Given the description of an element on the screen output the (x, y) to click on. 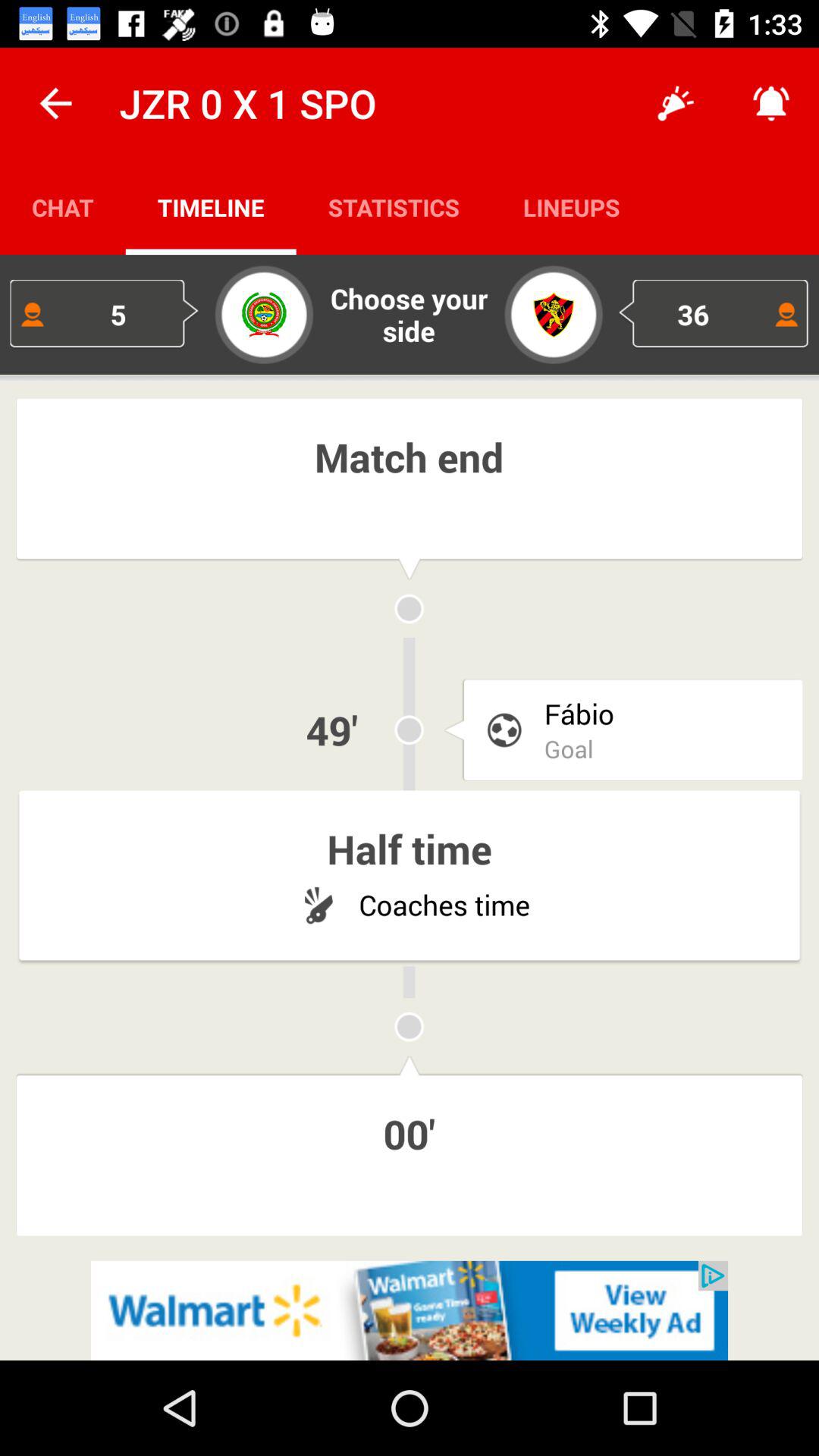
select advertisement (409, 1310)
